Given the description of an element on the screen output the (x, y) to click on. 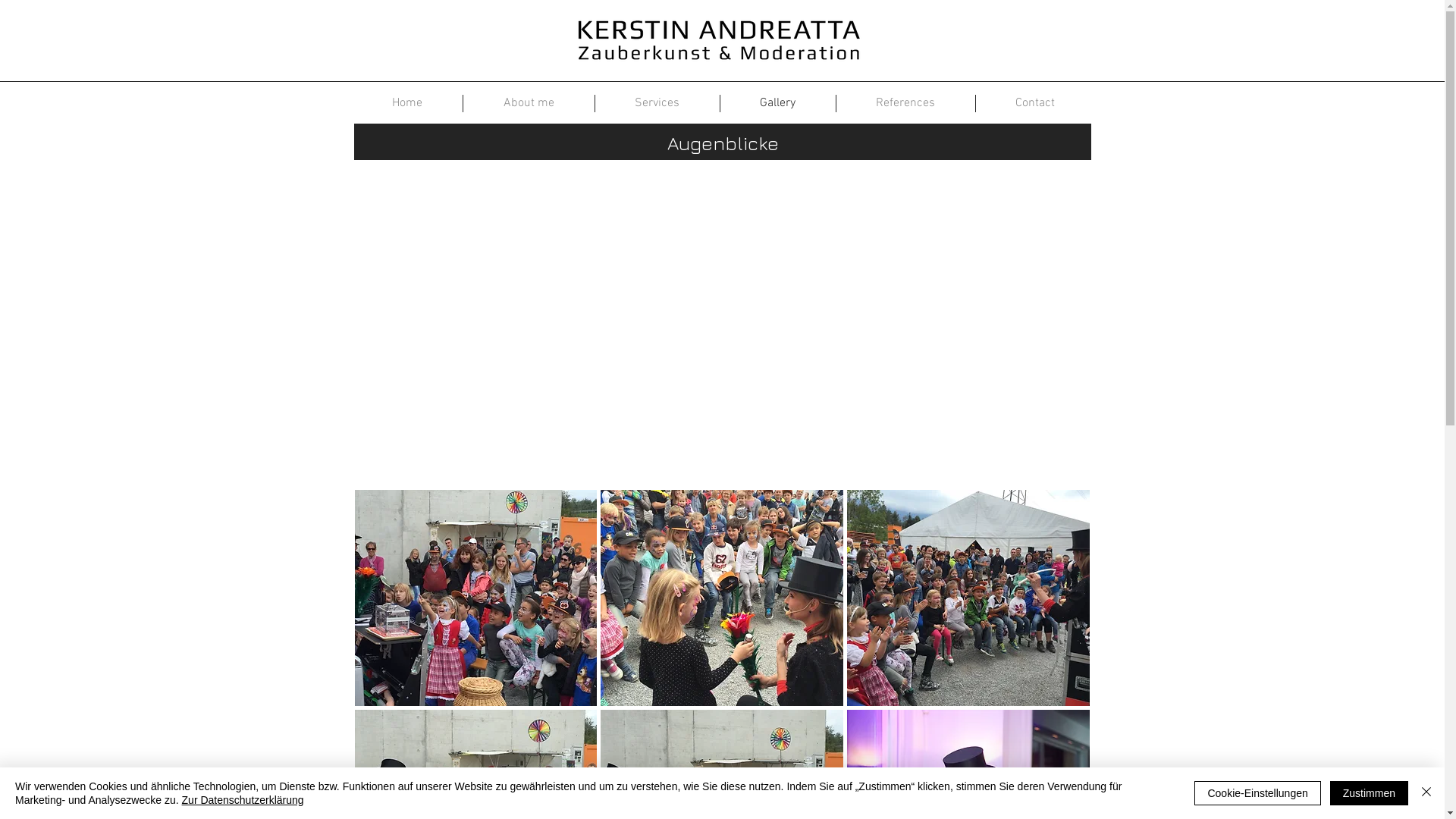
Home Element type: text (406, 103)
About me Element type: text (527, 103)
Cookie-Einstellungen Element type: text (1257, 793)
References Element type: text (904, 103)
Gallery Element type: text (777, 103)
Services Element type: text (656, 103)
External Vimeo Element type: hover (721, 323)
Zustimmen Element type: text (1369, 793)
Contact Element type: text (1034, 103)
